Given the description of an element on the screen output the (x, y) to click on. 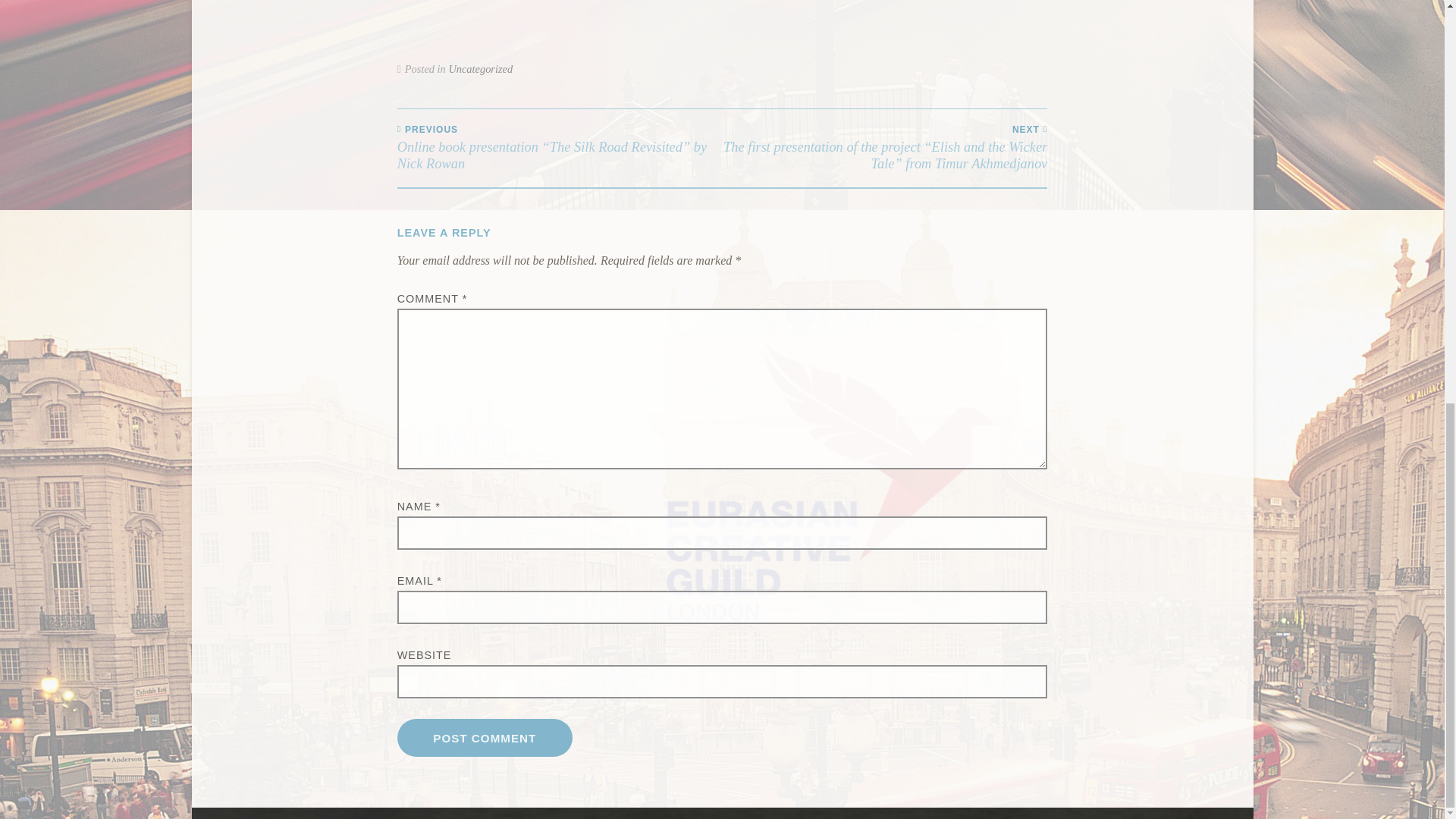
Post Comment (484, 737)
